Given the description of an element on the screen output the (x, y) to click on. 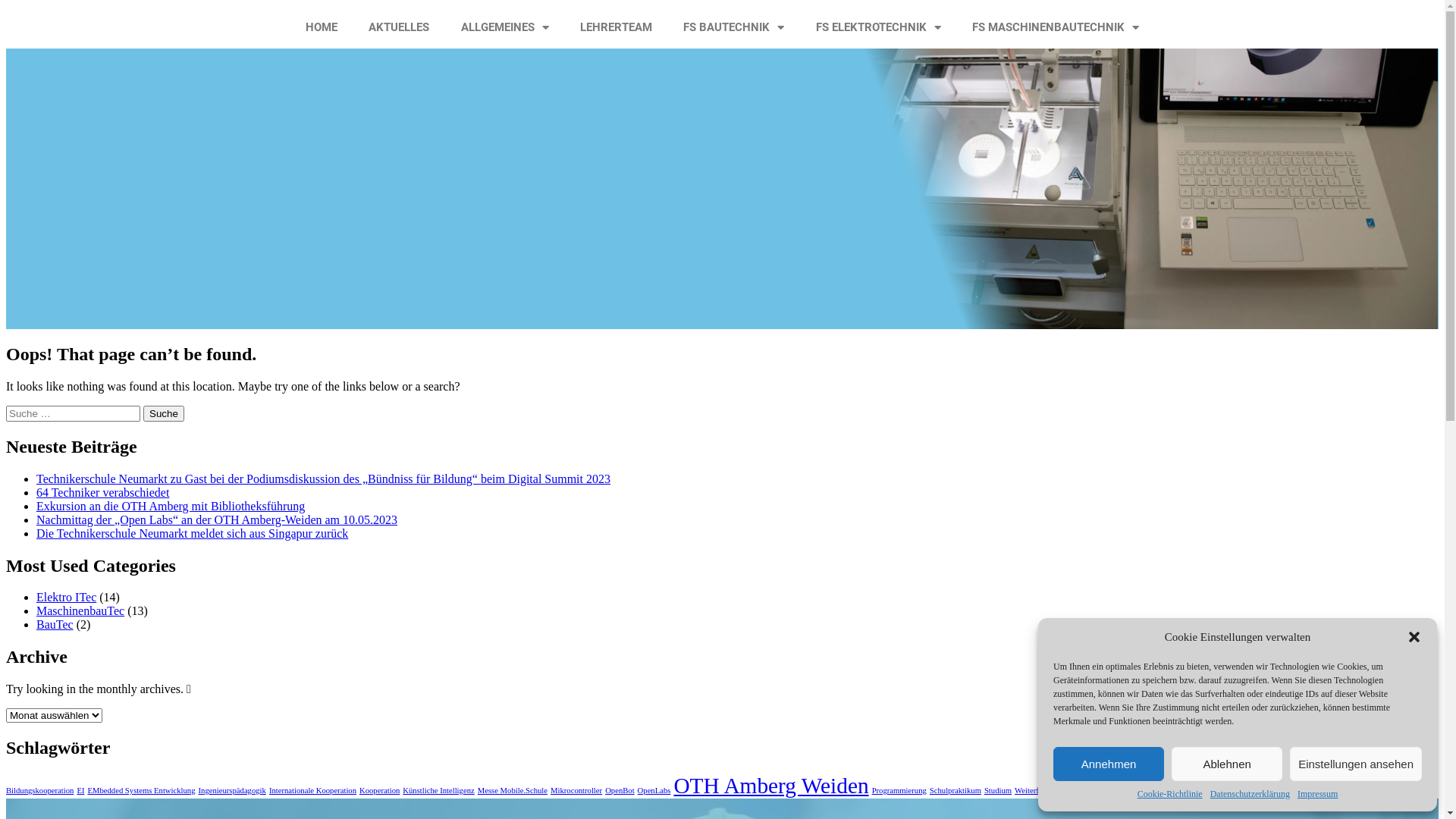
FS MASCHINENBAUTECHNIK Element type: text (1055, 27)
Elektro ITec Element type: text (66, 596)
64 Techniker verabschiedet Element type: text (102, 492)
Impressum Element type: text (1317, 794)
HOME Element type: text (320, 27)
BauTec Element type: text (54, 624)
Messe Mobile.Schule Element type: text (512, 790)
FS ELEKTROTECHNIK Element type: text (878, 27)
OTH Amberg Weiden Element type: text (770, 785)
OpenLabs Element type: text (654, 790)
Schulpraktikum Element type: text (955, 790)
EMbedded Systems Entwicklung Element type: text (140, 790)
Einstellungen ansehen Element type: text (1355, 763)
Kooperation Element type: text (379, 790)
ALLGEMEINES Element type: text (504, 27)
FS BAUTECHNIK Element type: text (734, 27)
AKTUELLES Element type: text (399, 27)
Programmierung Element type: text (899, 790)
Studium Element type: text (997, 790)
Mikrocontroller Element type: text (576, 790)
Internationale Kooperation Element type: text (312, 790)
EI Element type: text (80, 790)
Annehmen Element type: text (1108, 763)
OpenBot Element type: text (619, 790)
Suche Element type: text (163, 413)
MaschinenbauTec Element type: text (80, 610)
Cookie-Richtlinie Element type: text (1169, 794)
Wissensaustausch Element type: text (1157, 790)
Ablehnen Element type: text (1226, 763)
Bildungskooperation Element type: text (39, 790)
LEHRERTEAM Element type: text (615, 27)
